Given the description of an element on the screen output the (x, y) to click on. 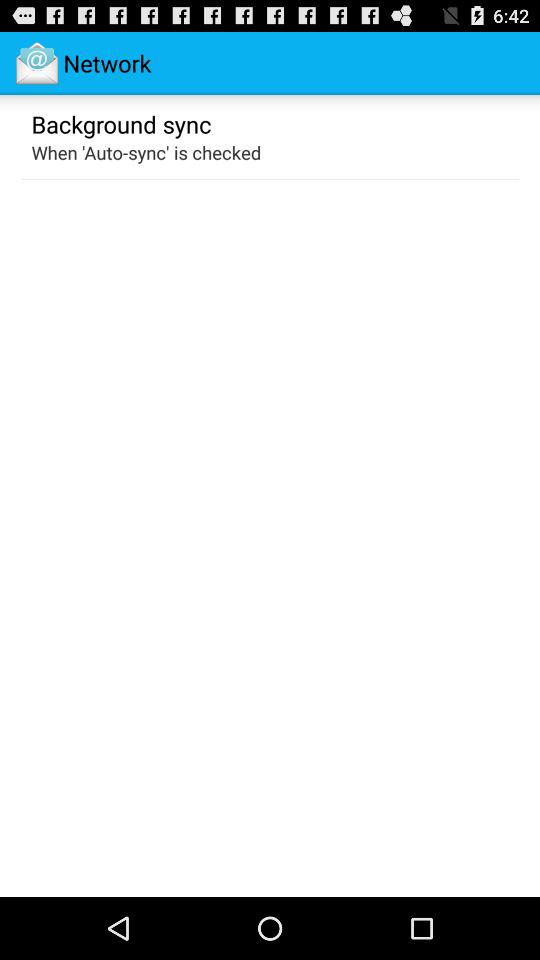
scroll to when auto sync item (146, 151)
